Given the description of an element on the screen output the (x, y) to click on. 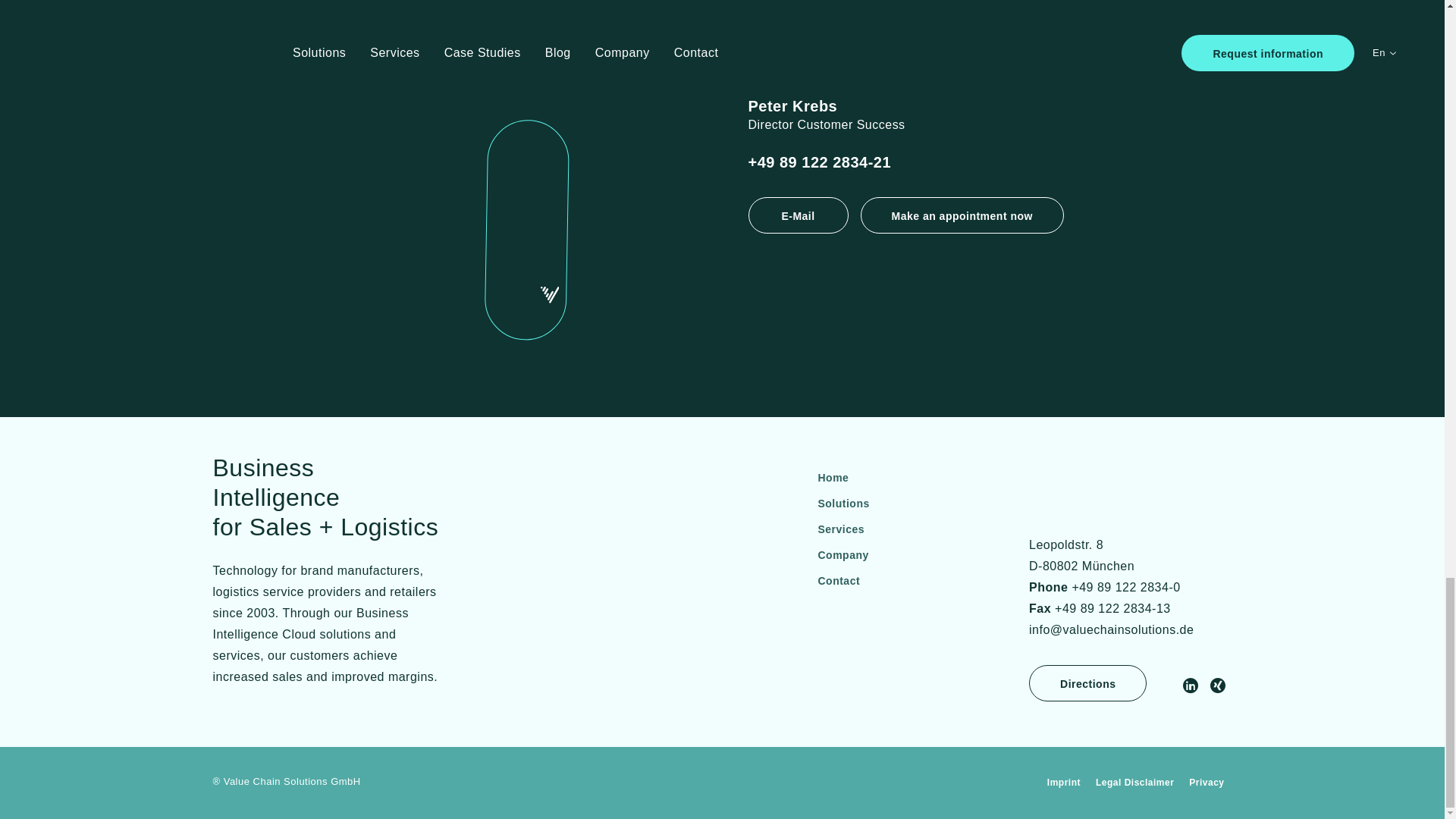
Contact (838, 580)
Directions (1088, 683)
Home (832, 478)
Make an appointment now (961, 215)
E-Mail (797, 215)
Services (840, 529)
Solutions (842, 503)
Company (841, 555)
